Given the description of an element on the screen output the (x, y) to click on. 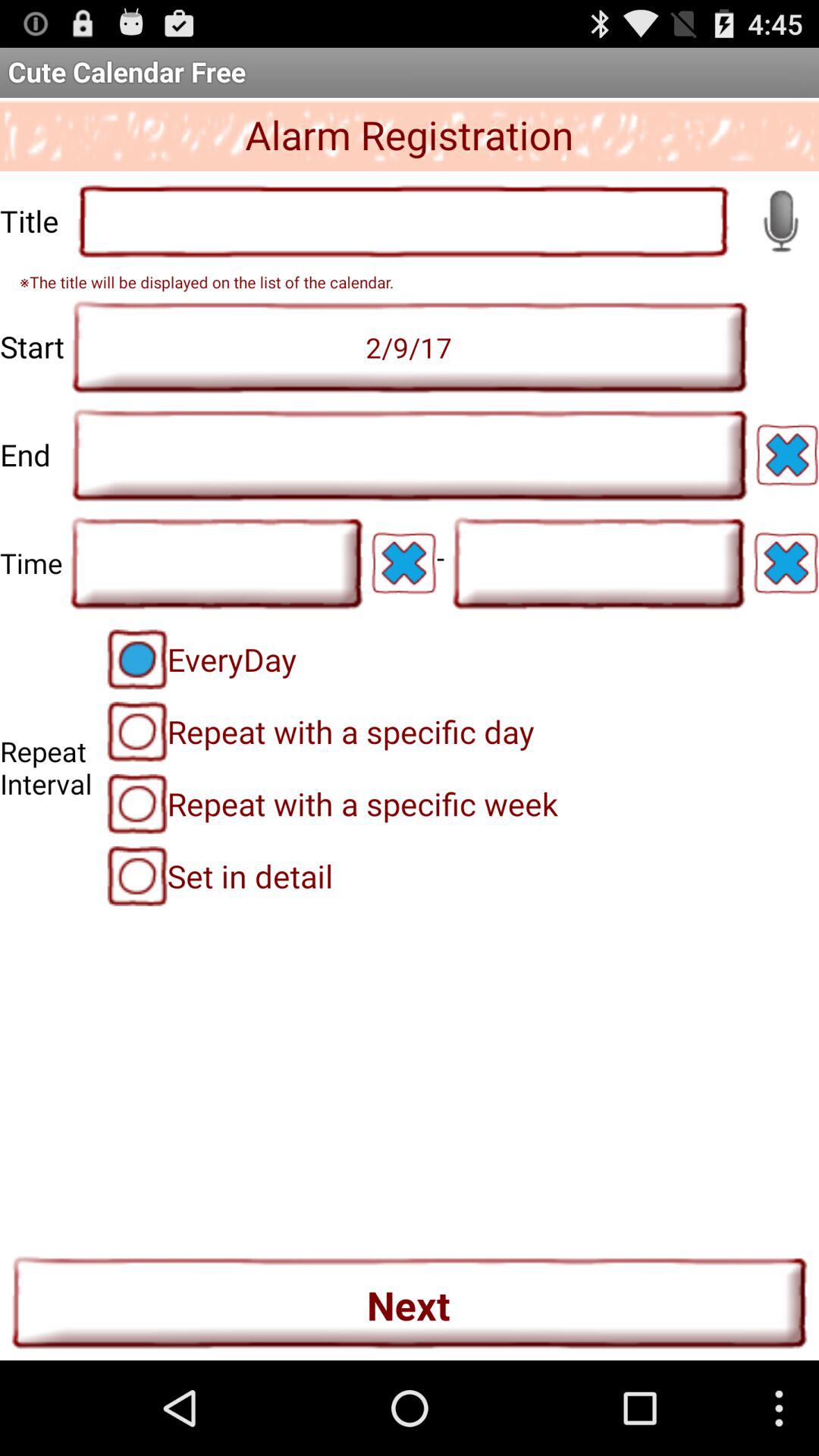
change alarm sound (780, 221)
